Given the description of an element on the screen output the (x, y) to click on. 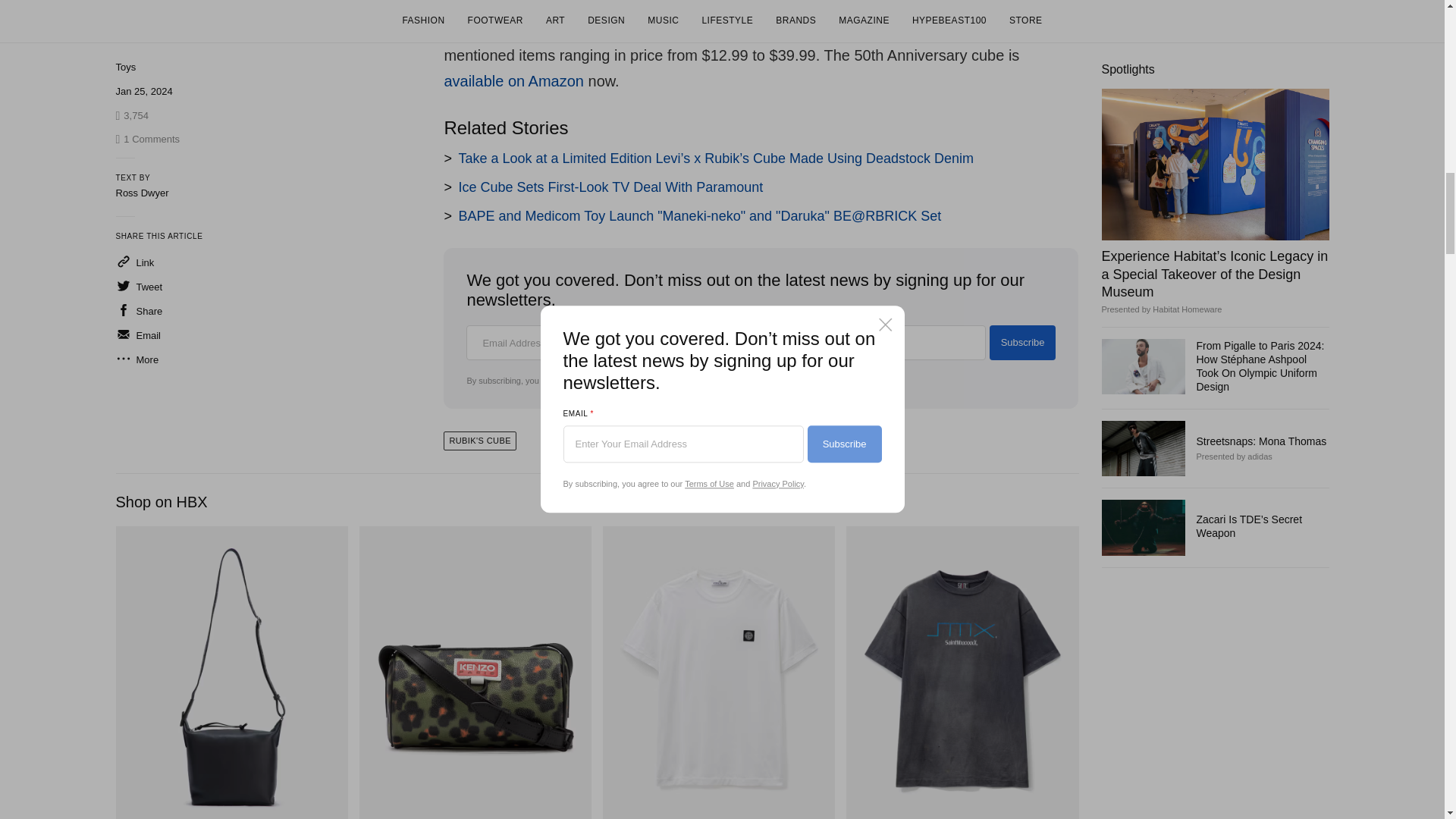
Short-sleeve T-shirt (718, 672)
Streetsnaps: Mona Thomas (1261, 289)
Streetsnaps: Mona Thomas (1142, 296)
SM6 T-Shirt (961, 672)
CUBI CROSSBODY SMALL (231, 672)
'Hana Leopard' Discover Tube Bag With Strap (475, 672)
Rubik's Cube (479, 440)
